Given the description of an element on the screen output the (x, y) to click on. 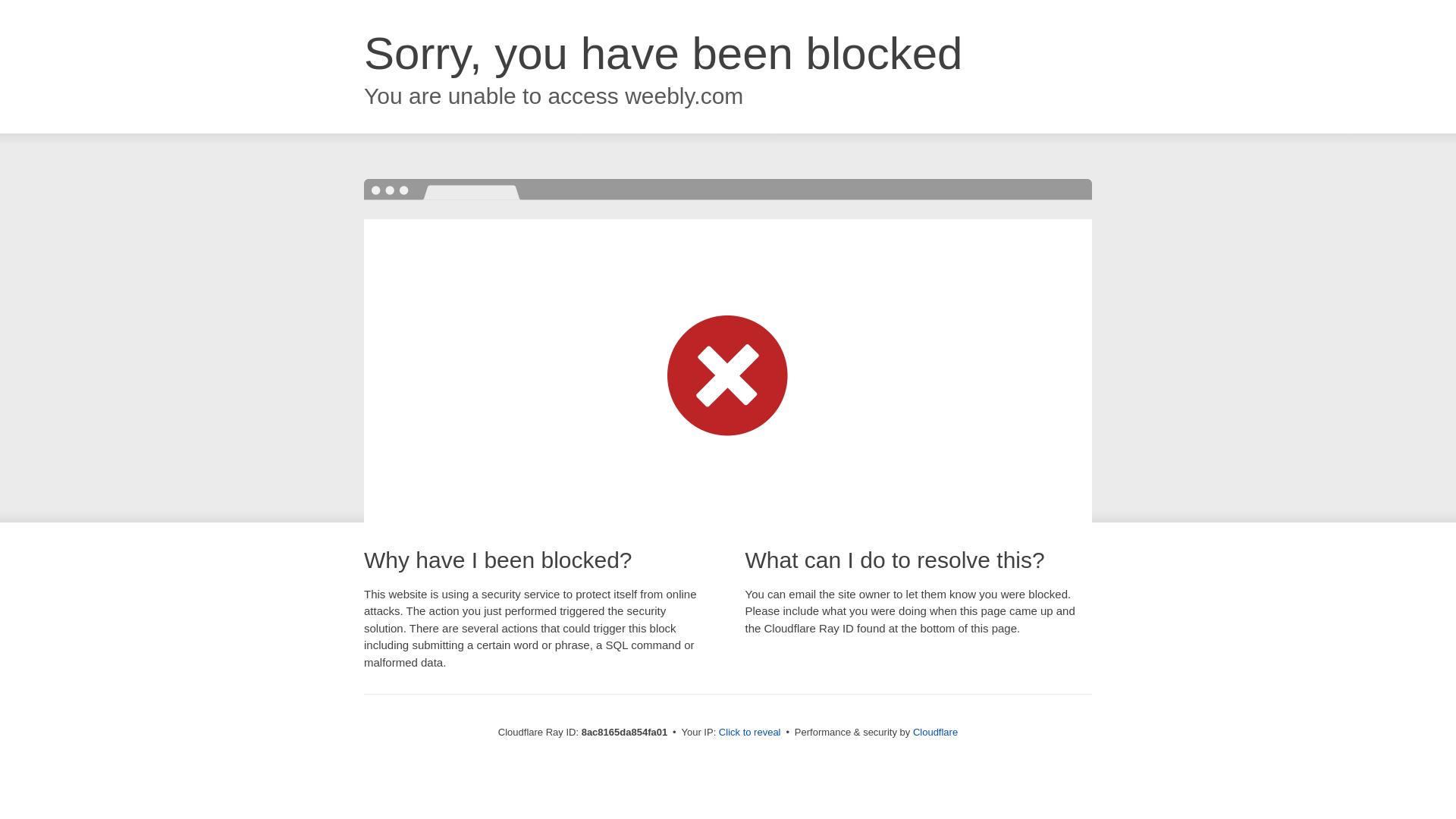
Click to reveal (749, 732)
Cloudflare (935, 731)
